Given the description of an element on the screen output the (x, y) to click on. 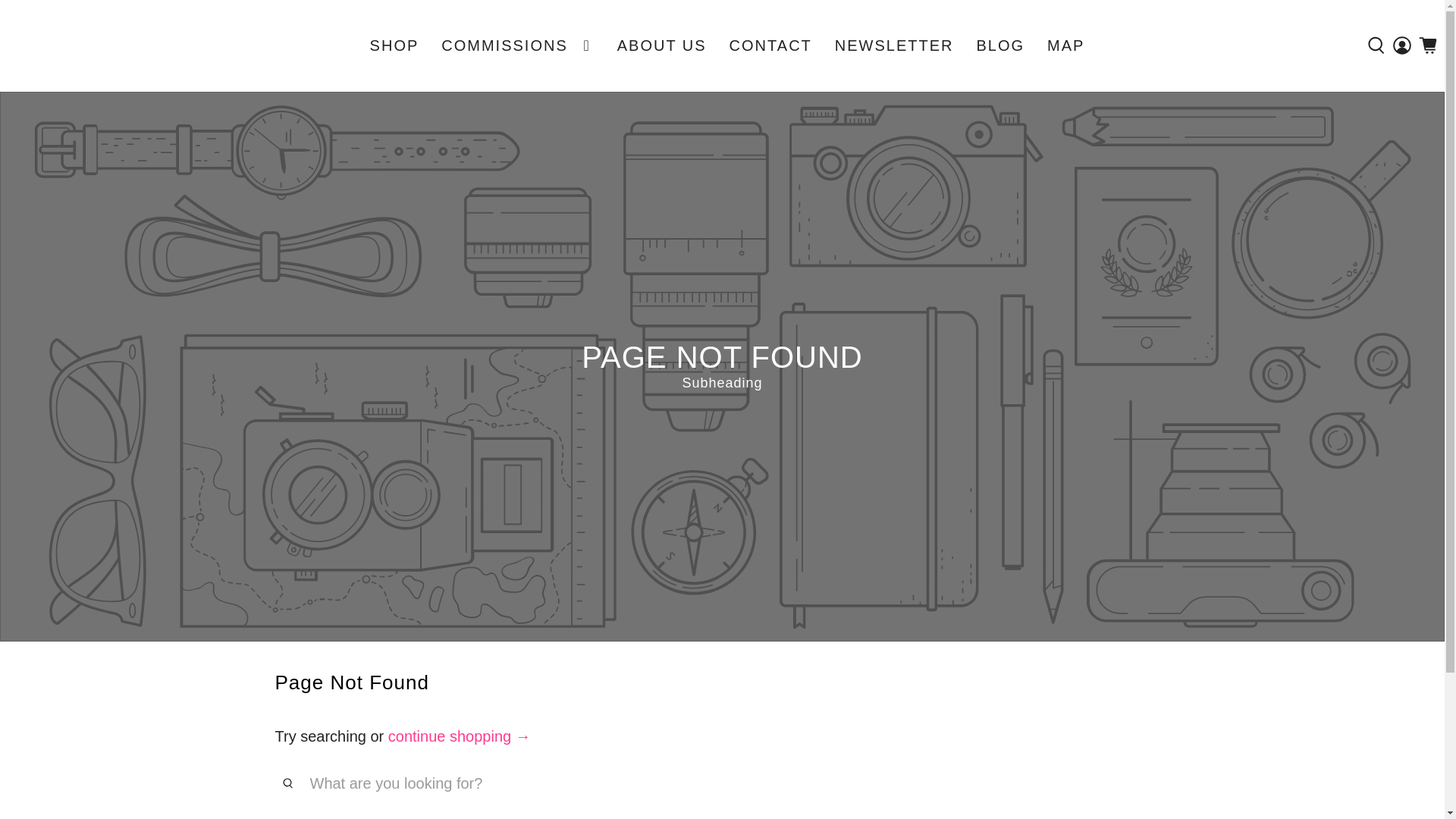
NEWSLETTER (894, 45)
The Postman Art (49, 45)
CONTACT (770, 45)
BLOG (999, 45)
SHOP (394, 45)
COMMISSIONS (517, 45)
ABOUT US (661, 45)
MAP (1065, 45)
